Given the description of an element on the screen output the (x, y) to click on. 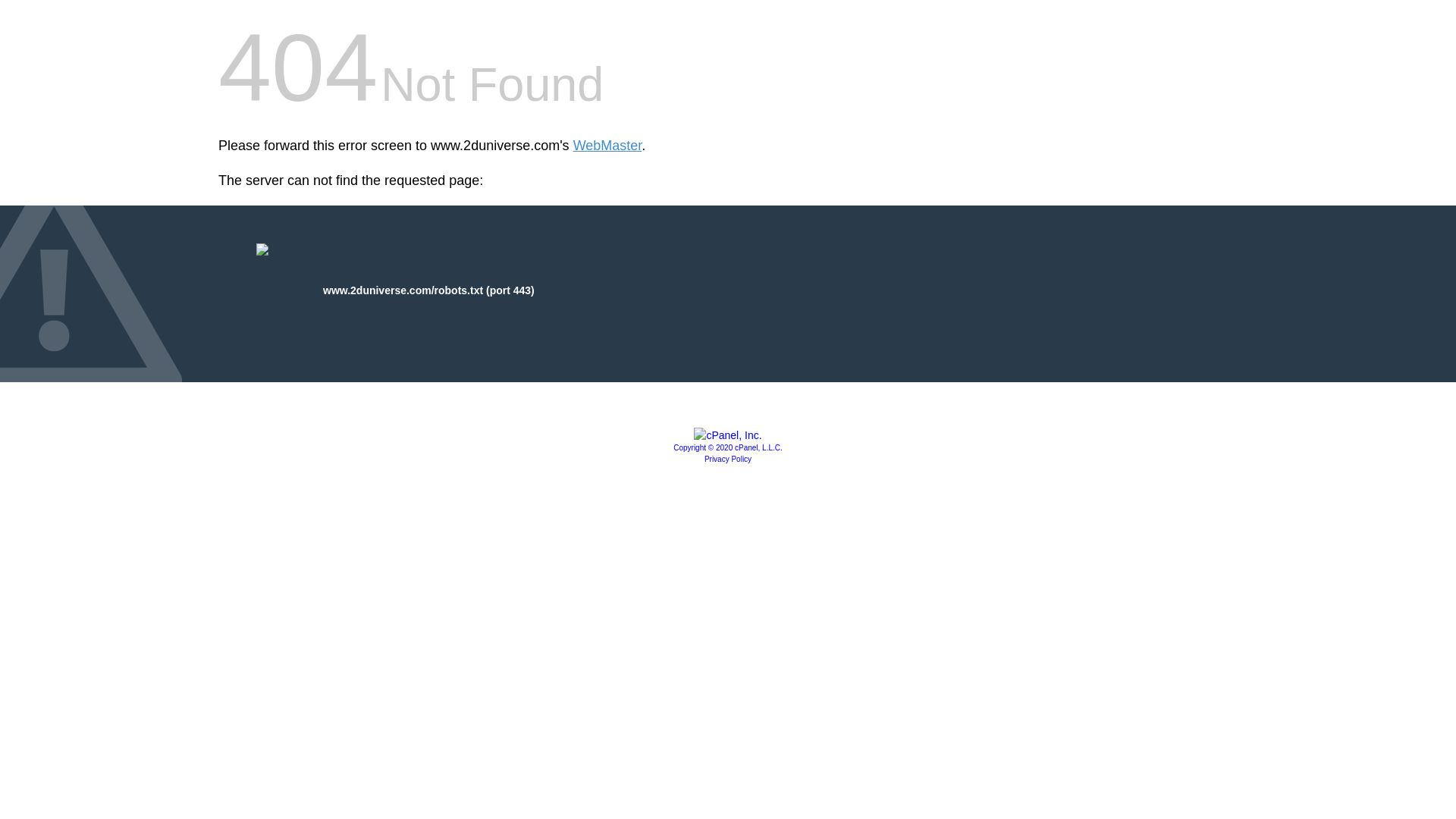
WebMaster Element type: text (607, 145)
Privacy Policy Element type: text (727, 459)
cPanel, Inc. Element type: hover (727, 435)
